Given the description of an element on the screen output the (x, y) to click on. 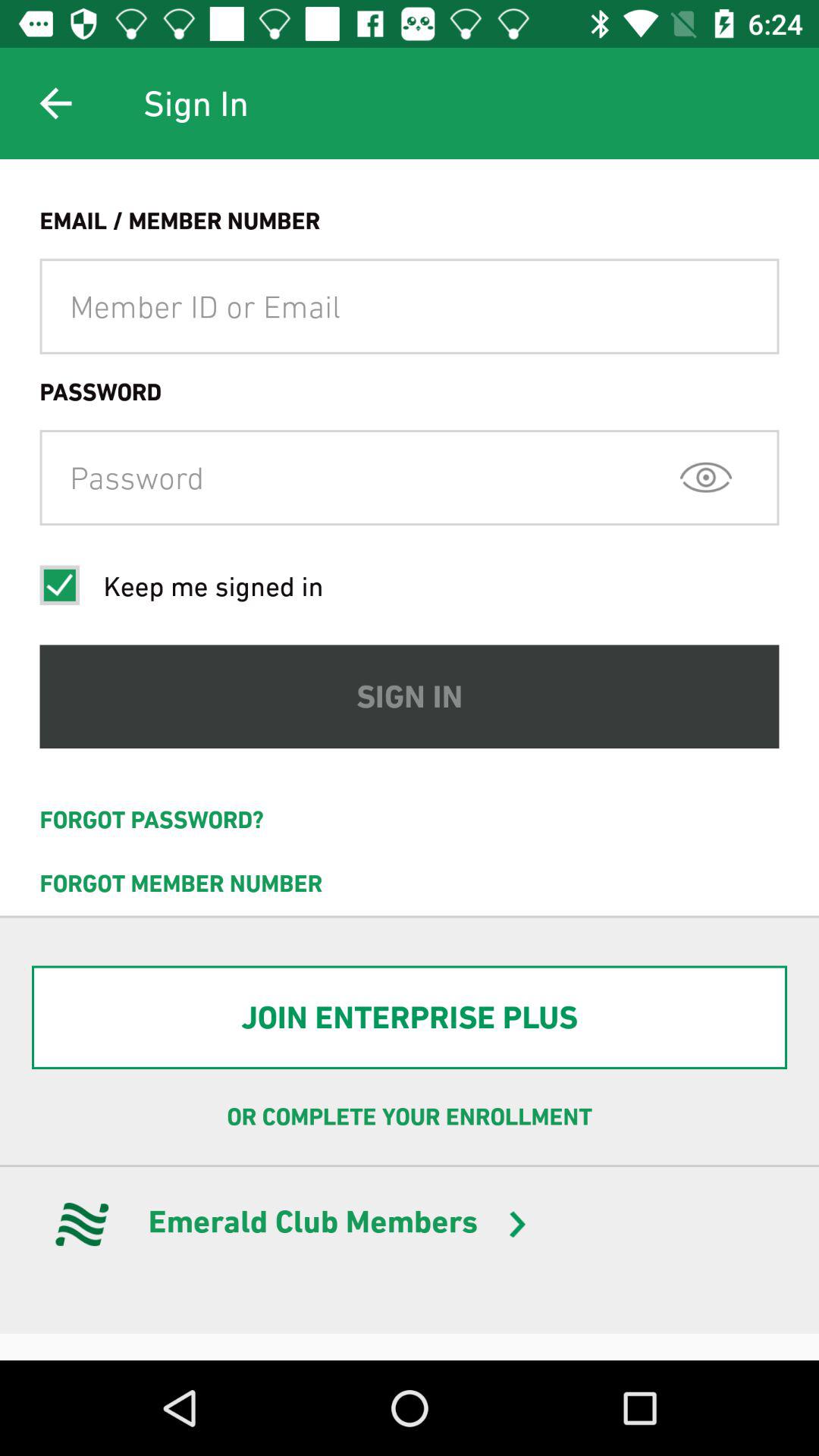
turn on the or complete your (409, 1116)
